Given the description of an element on the screen output the (x, y) to click on. 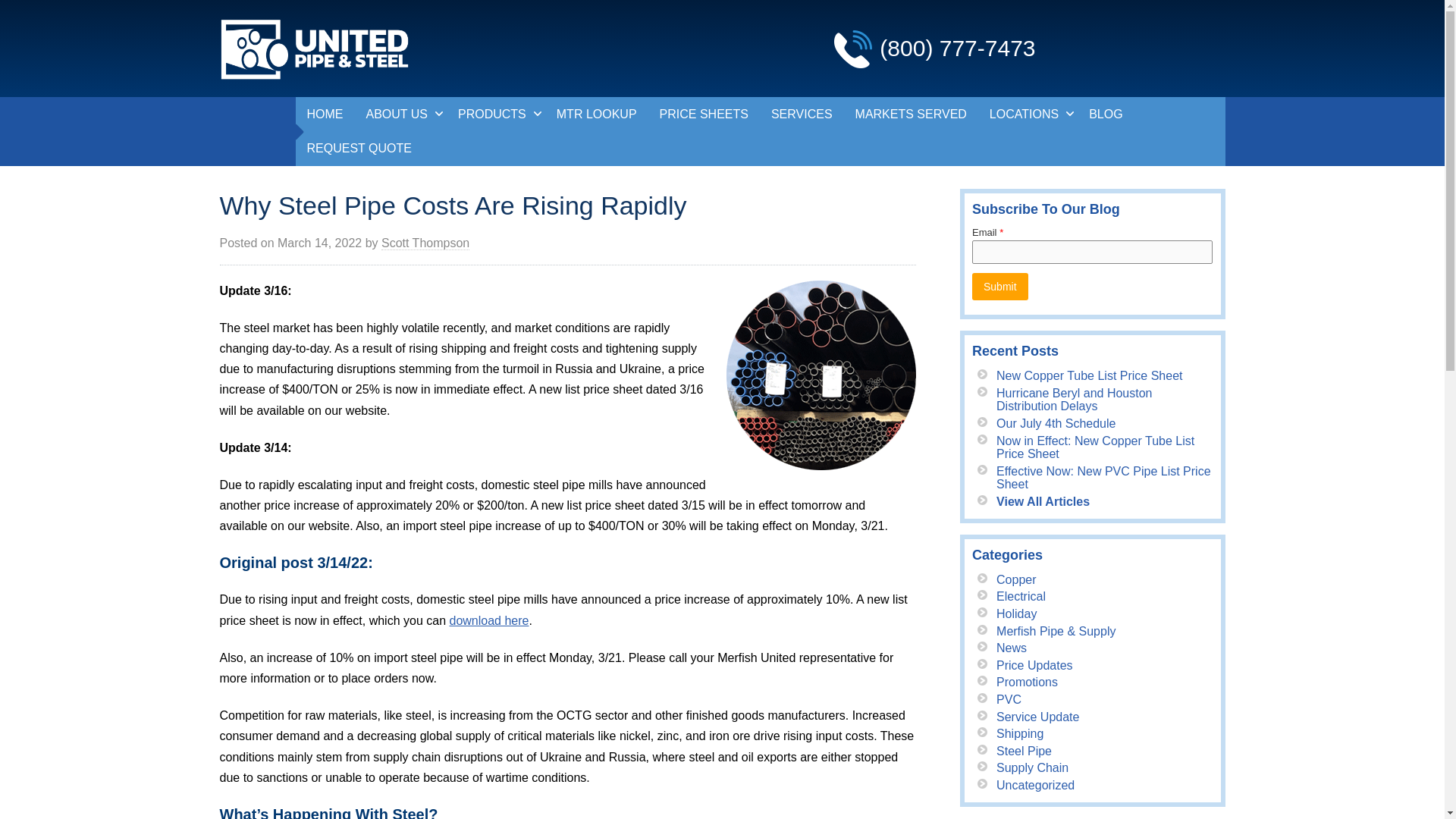
ABOUT US (400, 114)
PRODUCTS (495, 114)
HOME (325, 114)
